Given the description of an element on the screen output the (x, y) to click on. 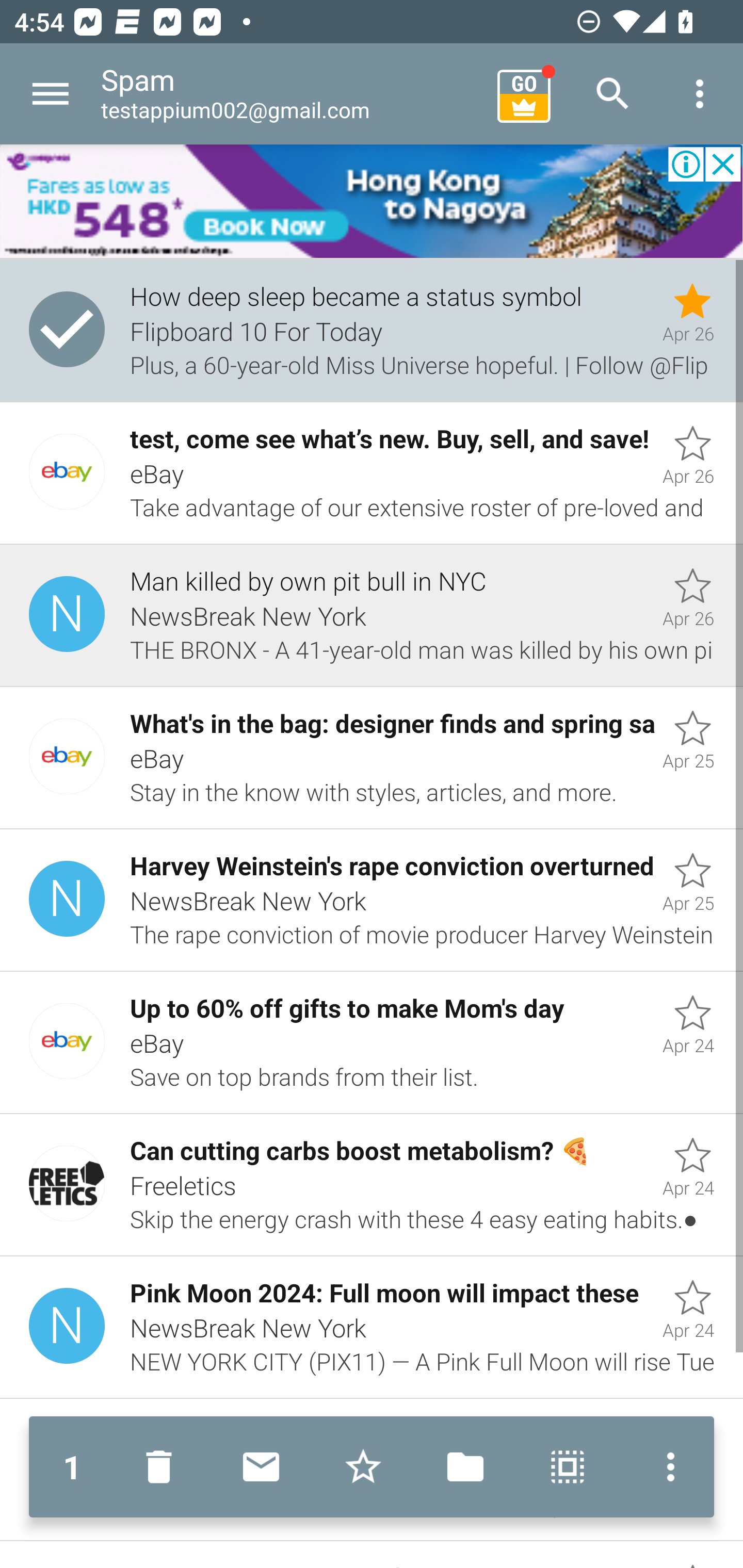
Navigate up (50, 93)
Spam testappium002@gmail.com (291, 93)
Search (612, 93)
More options (699, 93)
Advertisement (371, 202)
1 1 message (71, 1466)
Move to Deleted (162, 1466)
Mark unread (261, 1466)
Remove stars (363, 1466)
Move to folder… (465, 1466)
Select all (567, 1466)
More options (666, 1466)
